Given the description of an element on the screen output the (x, y) to click on. 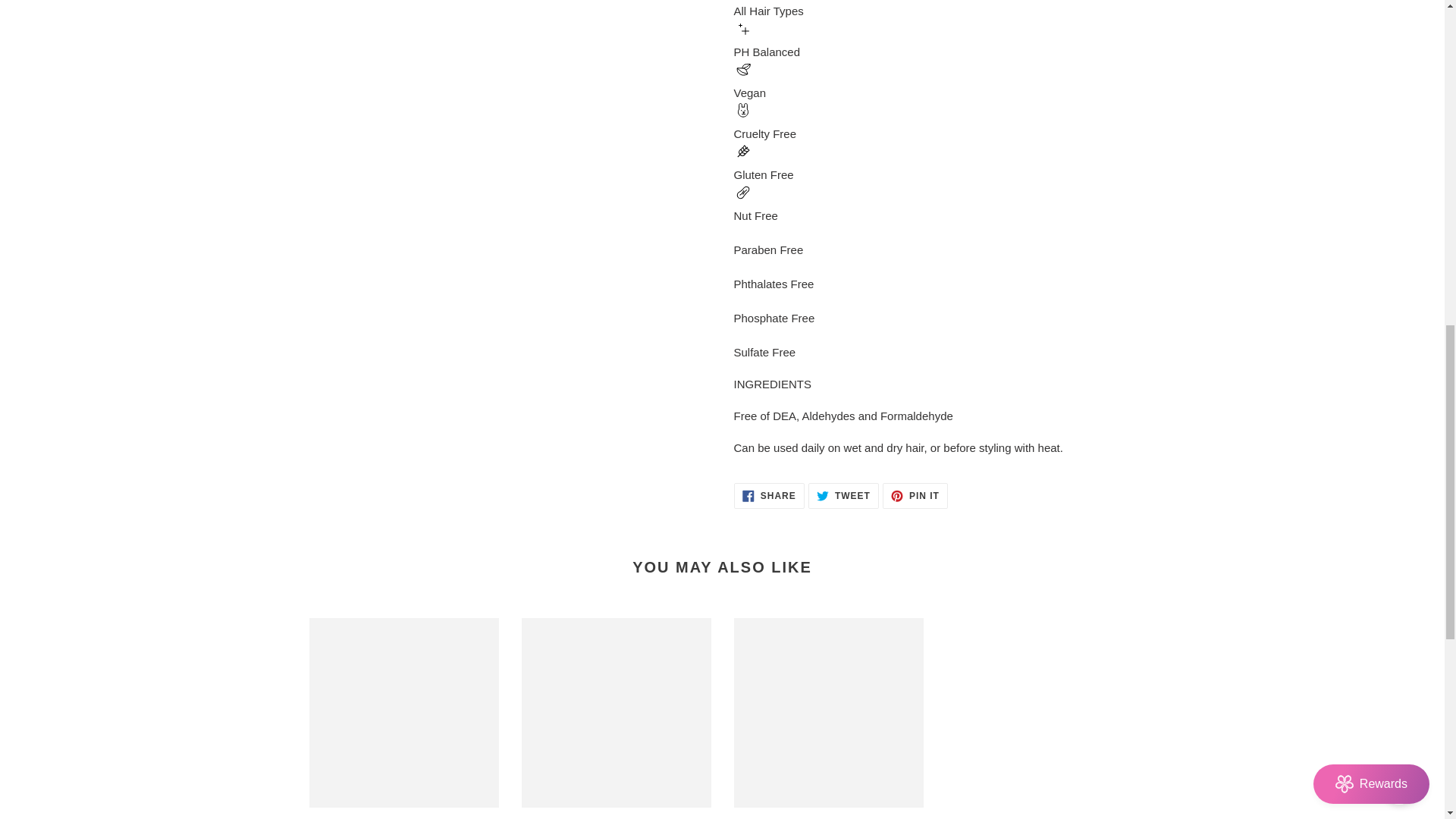
Olaplex No.5 Bond Maintenance Conditioner (403, 718)
Olaplex No.4 Bond Maintenance Shampoo (769, 495)
Olaplex No.3 Hair Perfector (843, 495)
